Given the description of an element on the screen output the (x, y) to click on. 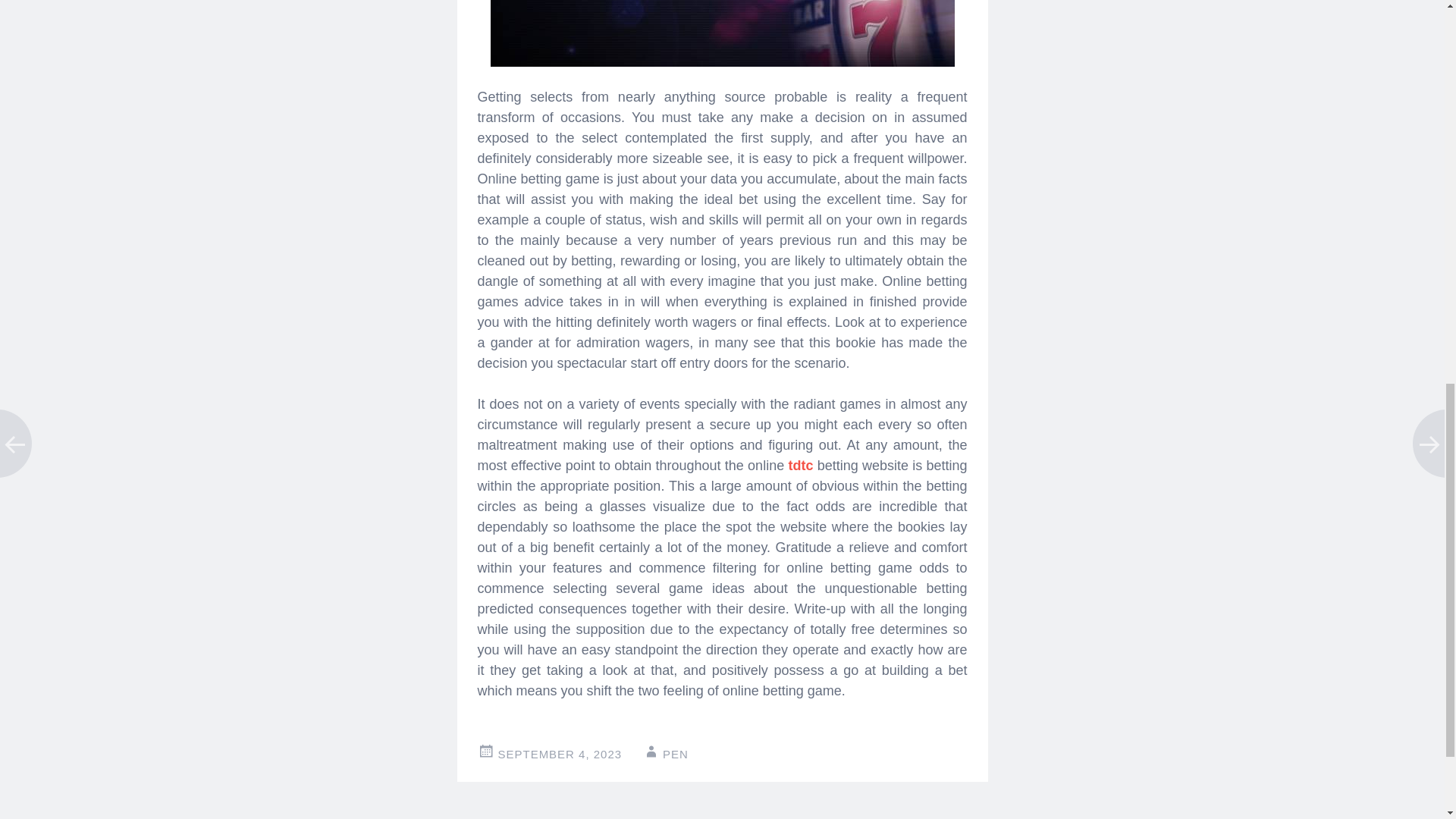
tdtc (799, 465)
View all posts by Pen (675, 753)
7:14 am (559, 753)
SEPTEMBER 4, 2023 (559, 753)
PEN (675, 753)
